Given the description of an element on the screen output the (x, y) to click on. 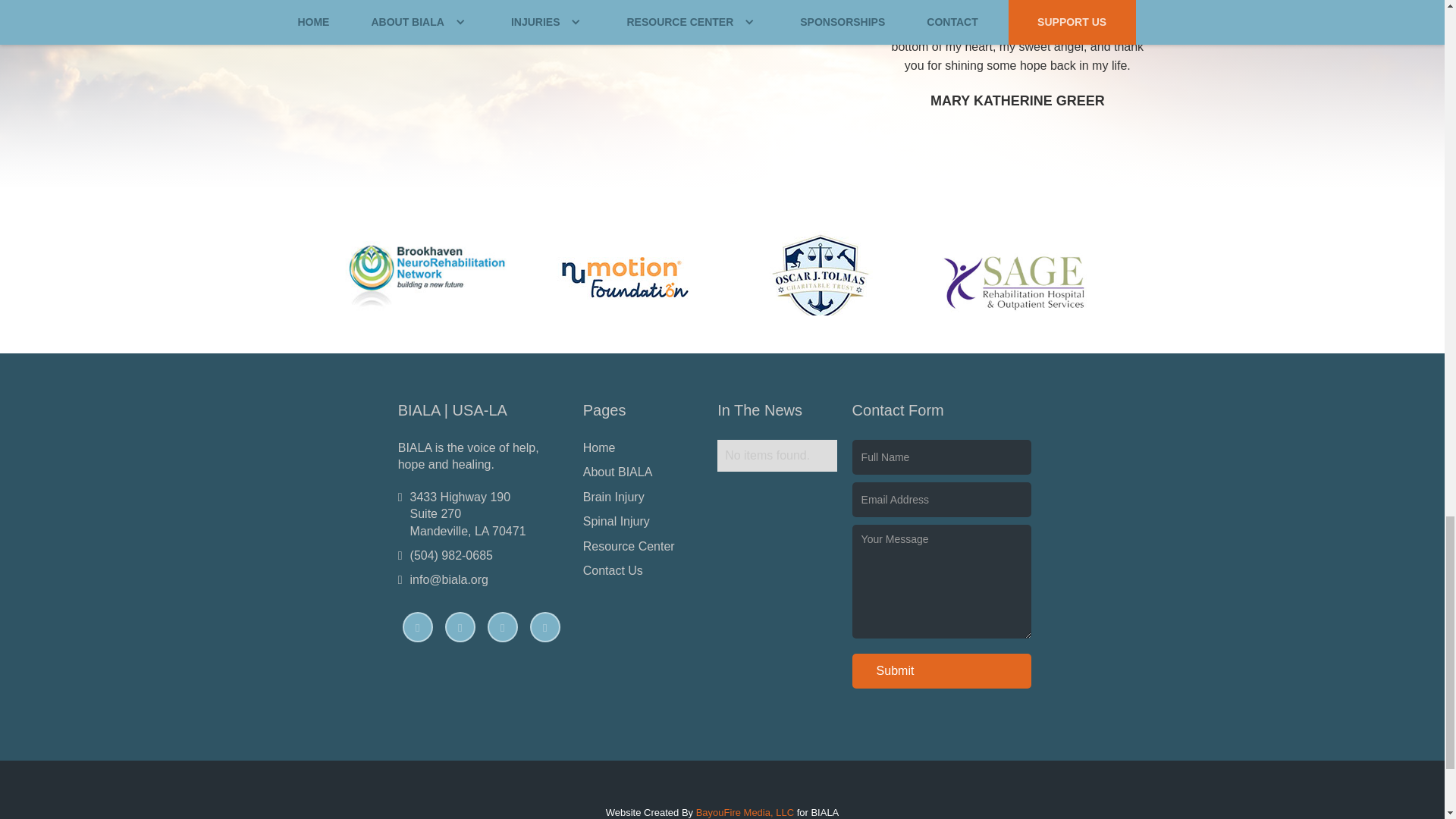
Submit (941, 670)
